Given the description of an element on the screen output the (x, y) to click on. 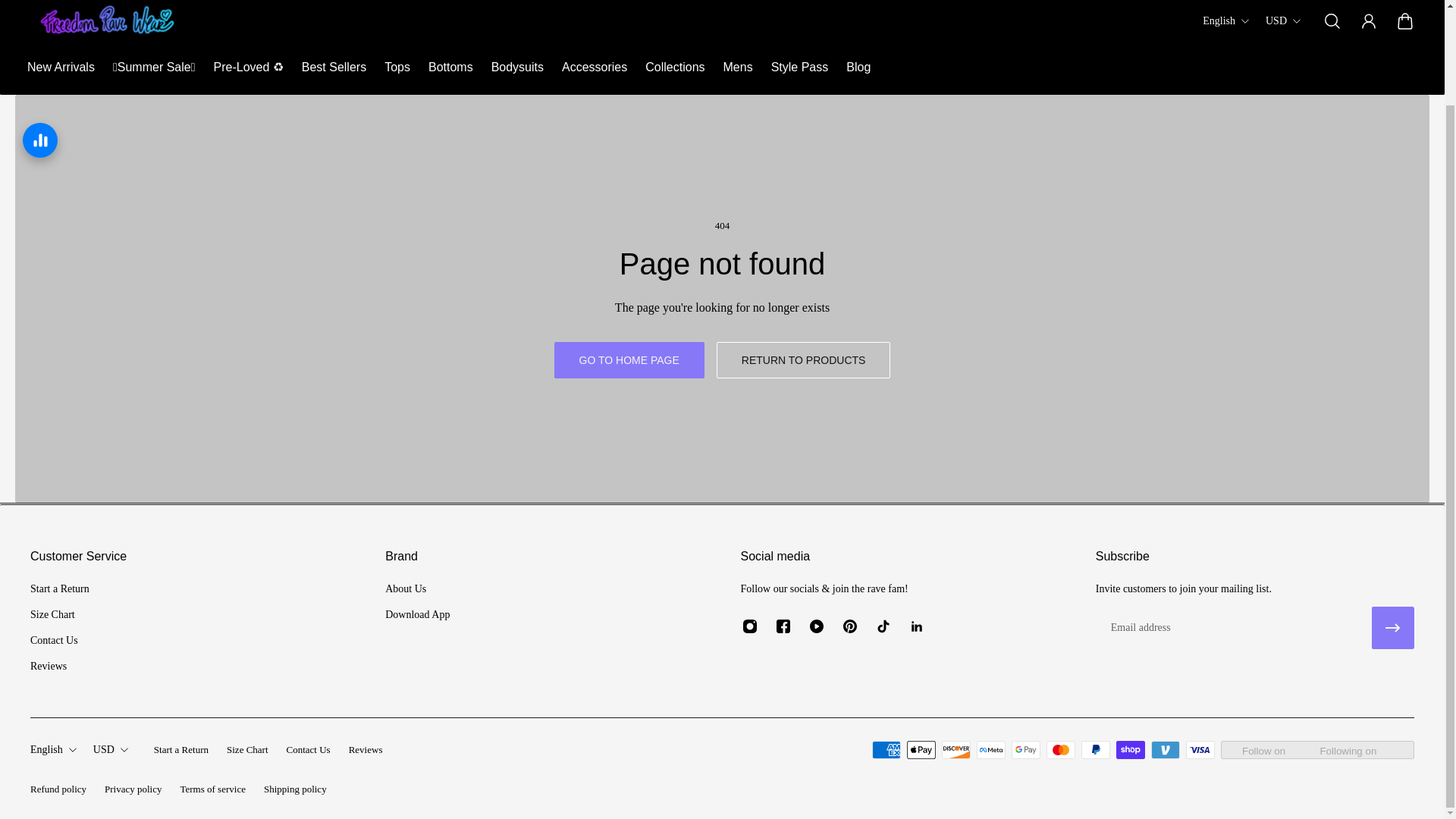
Bottoms (450, 66)
Blog (858, 66)
Tops (397, 66)
RETURN TO PRODUCTS (803, 360)
Size Chart (247, 750)
Start a Return (181, 750)
About Us (417, 588)
Collections (674, 66)
Style Pass (799, 66)
Accessories (594, 66)
Reviews (59, 666)
Contact Us (308, 750)
Mens (737, 66)
GO TO HOME PAGE (629, 360)
Download App (417, 614)
